Given the description of an element on the screen output the (x, y) to click on. 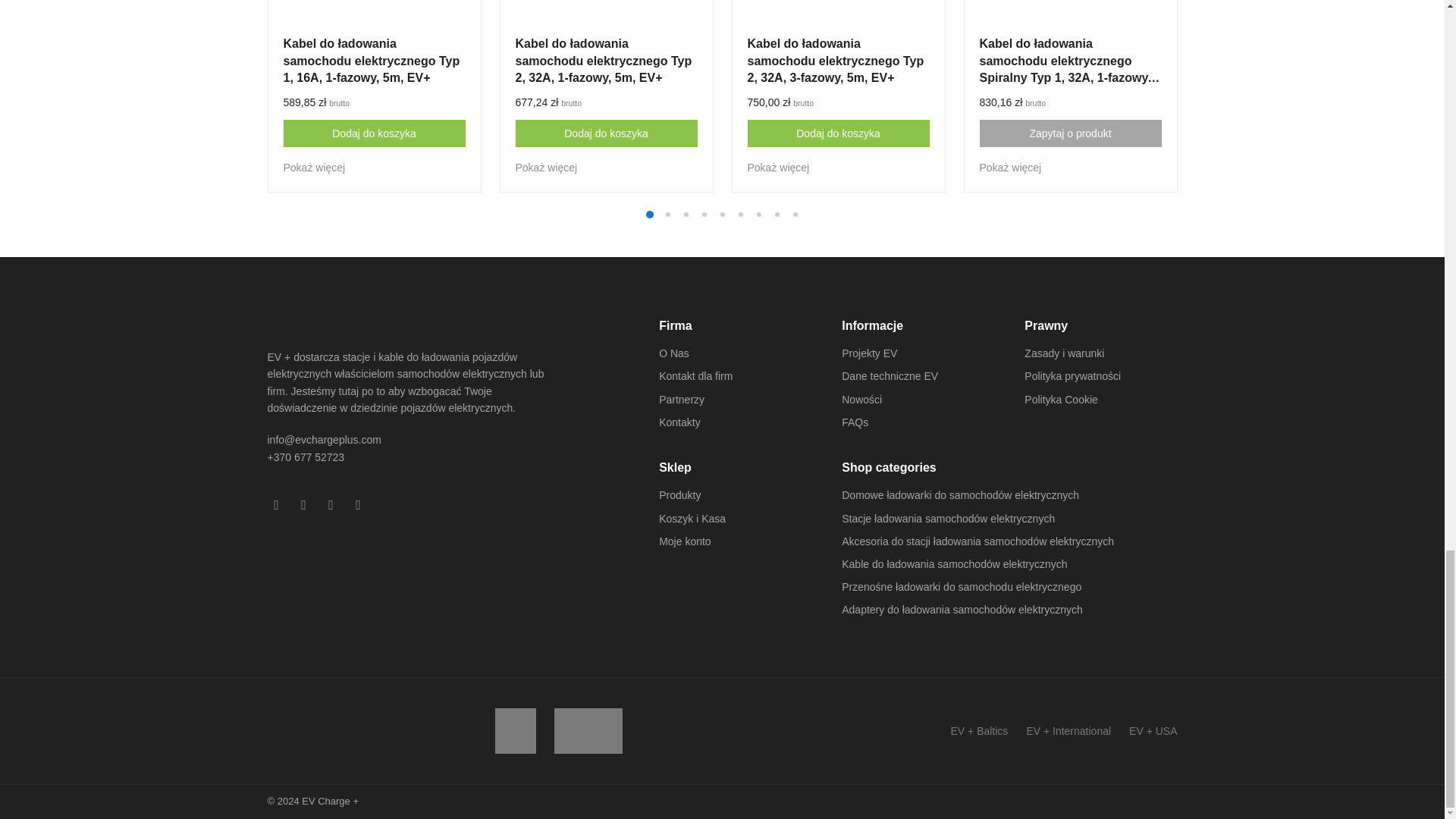
LinkedIn (357, 505)
Facebook (275, 505)
Instagram (303, 505)
